Given the description of an element on the screen output the (x, y) to click on. 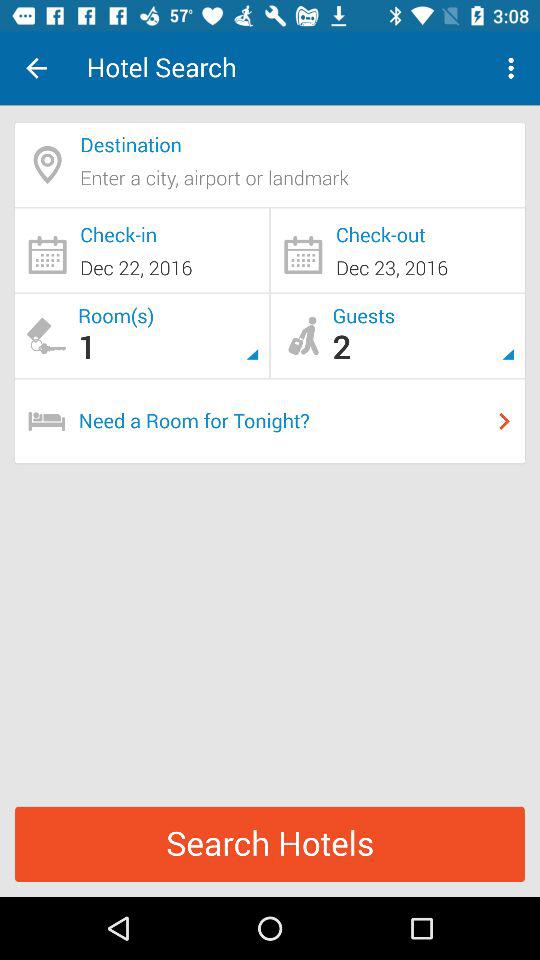
turn on icon to the right of the hotel search icon (513, 67)
